Given the description of an element on the screen output the (x, y) to click on. 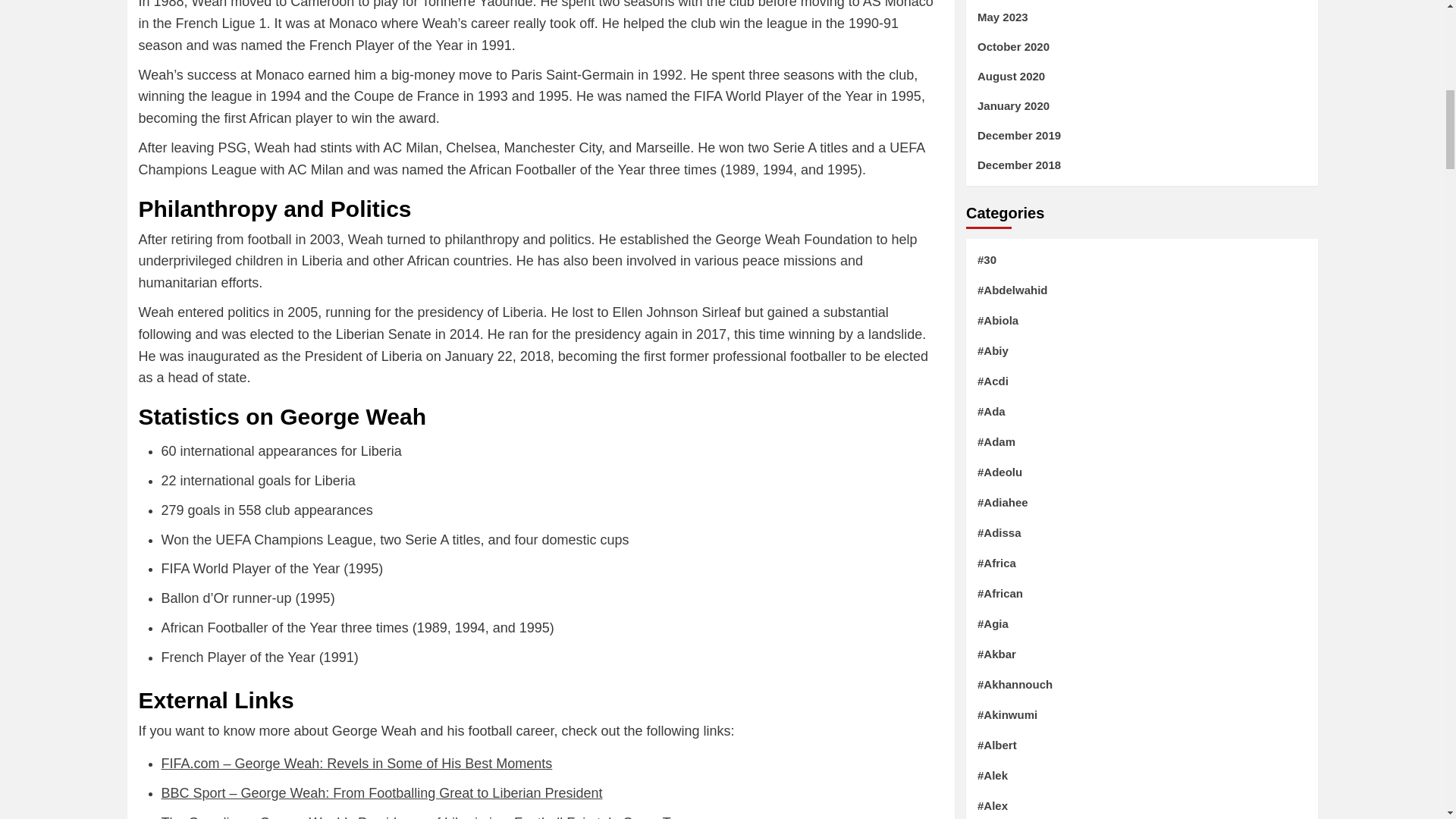
June 2023 (1141, 4)
